Given the description of an element on the screen output the (x, y) to click on. 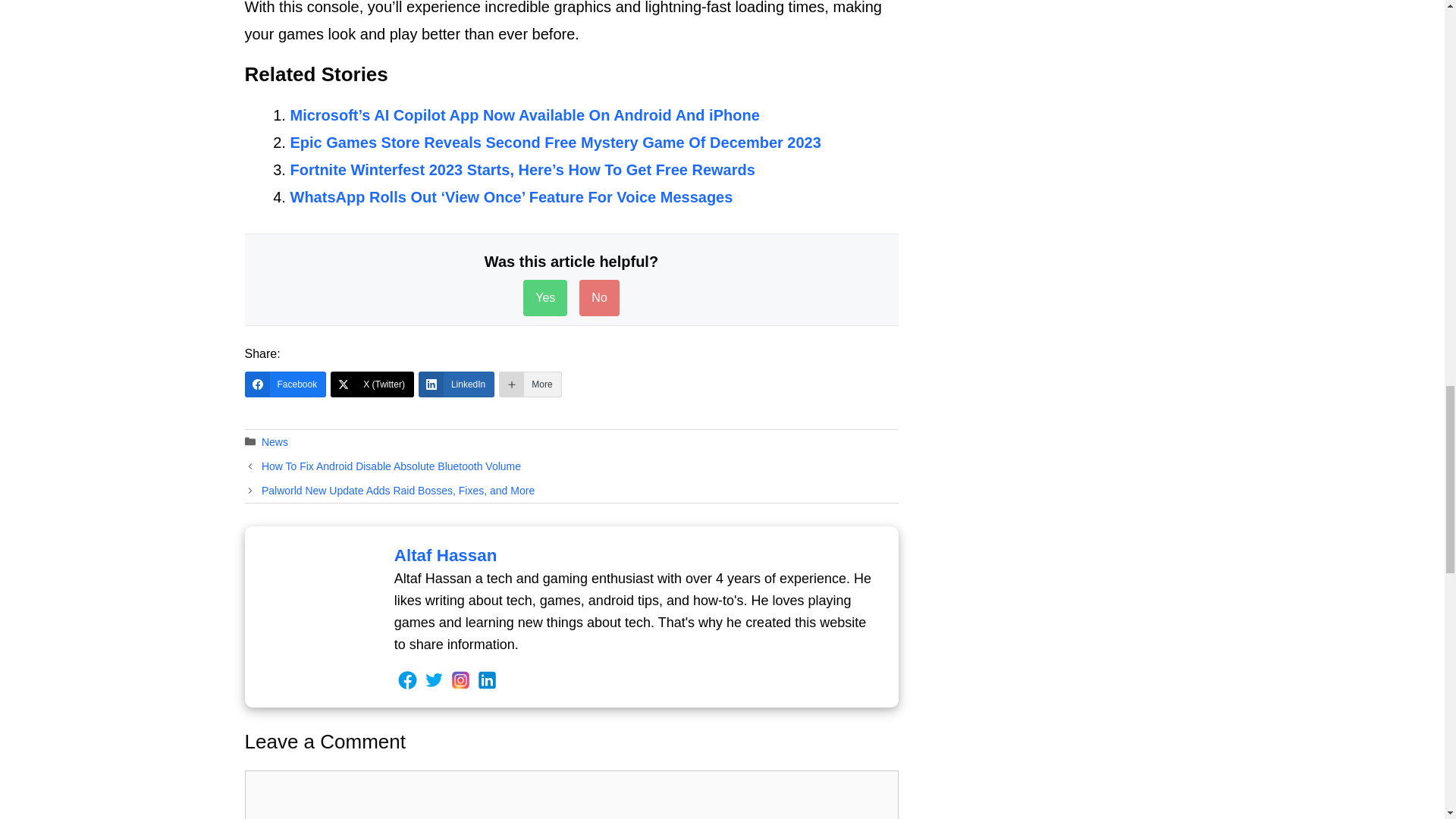
Altaf Hassan (445, 555)
How To Fix Android Disable Absolute Bluetooth Volume (391, 466)
More (529, 384)
Palworld New Update Adds Raid Bosses, Fixes, and More (398, 490)
News (275, 441)
LinkedIn (457, 384)
Facebook (285, 384)
